Given the description of an element on the screen output the (x, y) to click on. 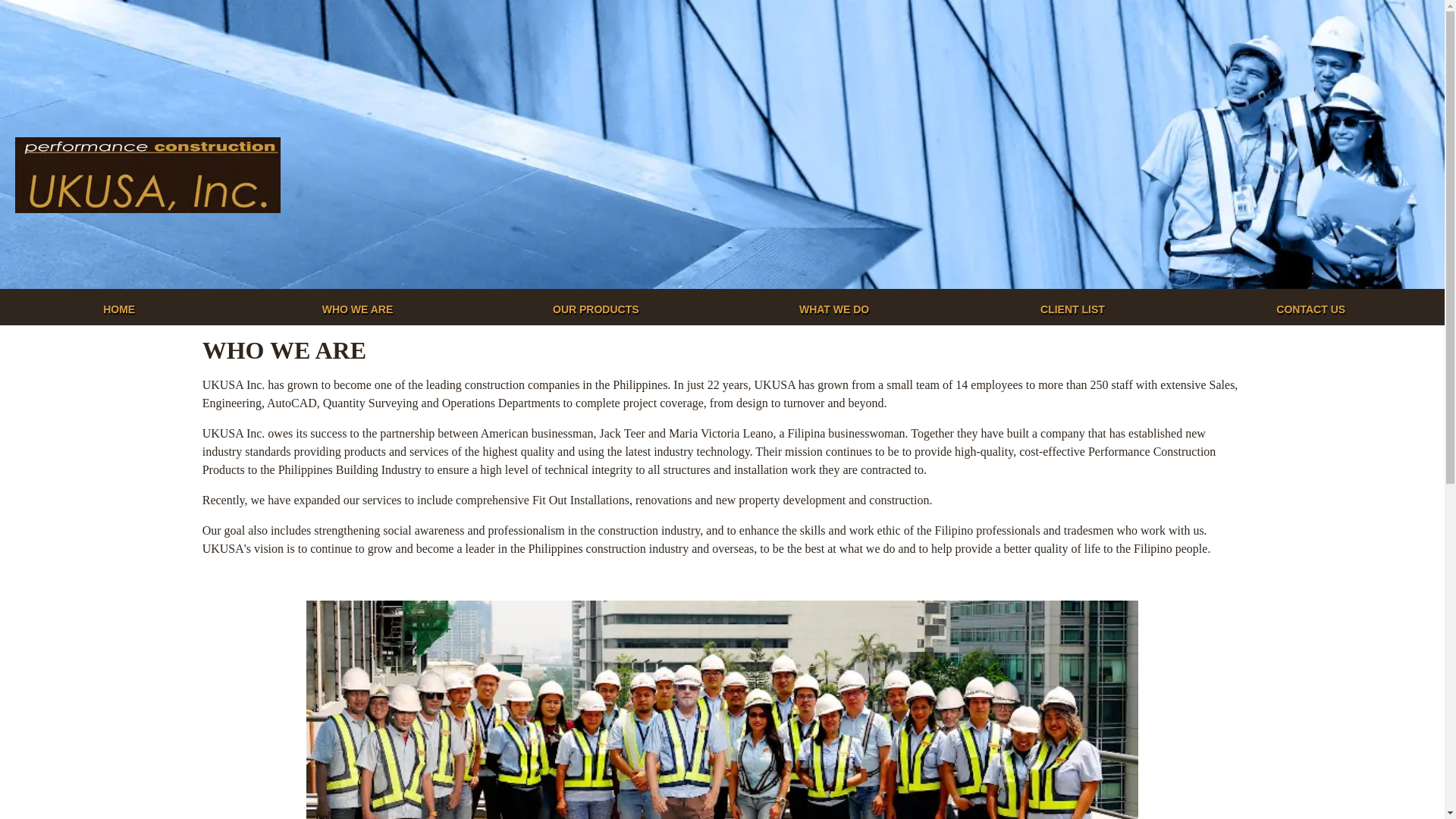
WHO WE ARE (357, 309)
HOME (119, 309)
WHAT WE DO (833, 309)
CLIENT LIST (1072, 309)
OUR PRODUCTS (595, 309)
CONTACT US (1310, 309)
